Given the description of an element on the screen output the (x, y) to click on. 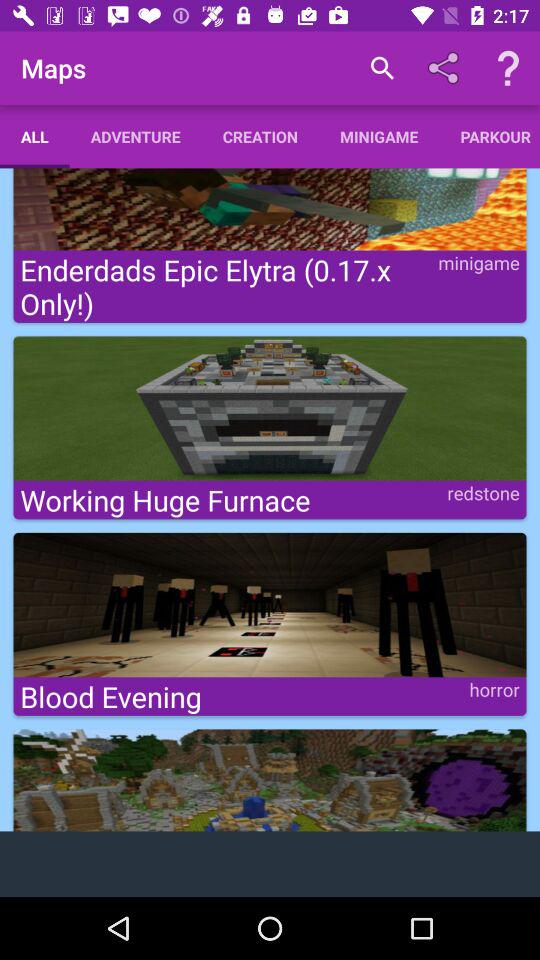
select icon to the right of minigame (489, 136)
